Given the description of an element on the screen output the (x, y) to click on. 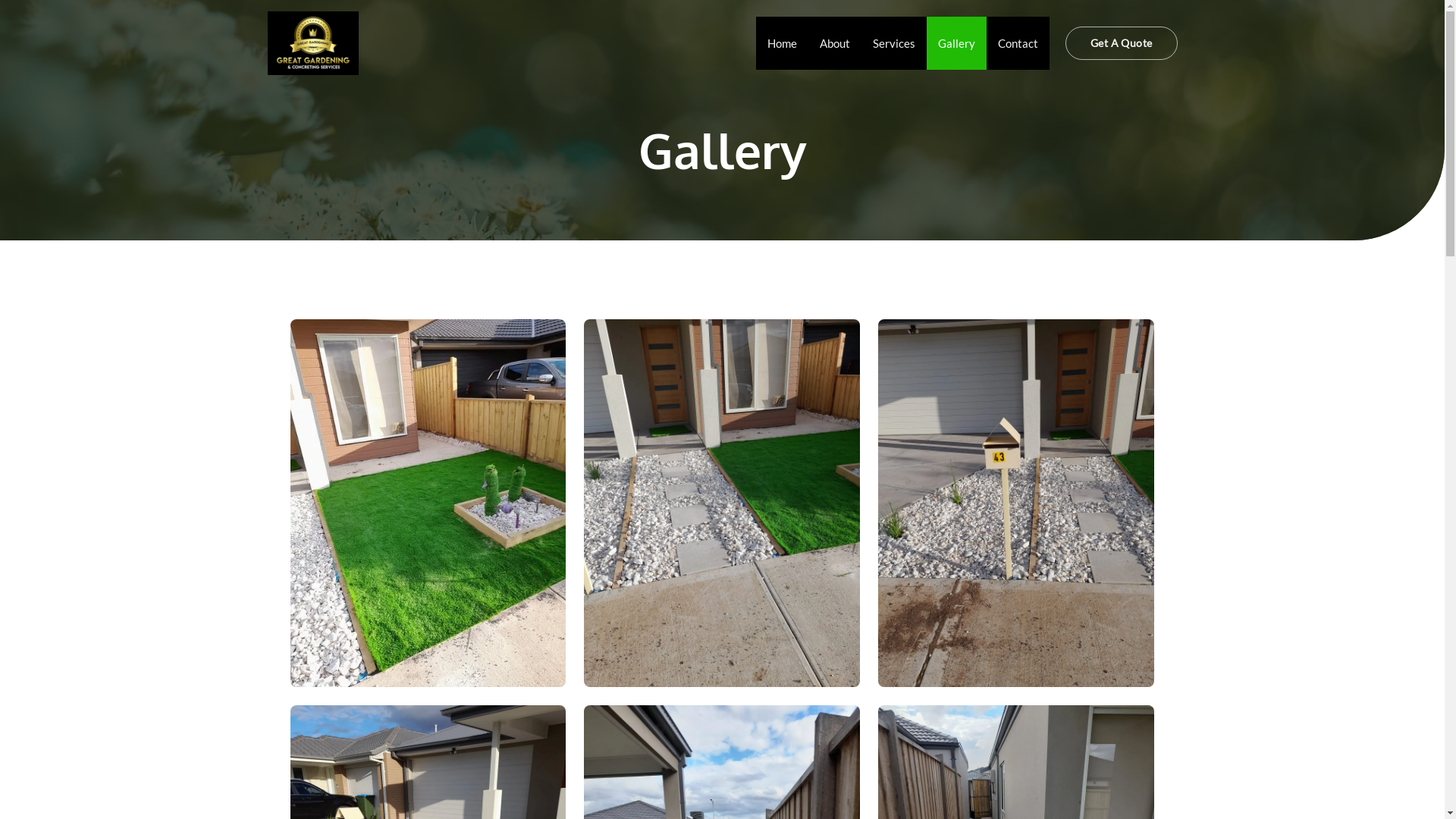
Contact Element type: text (1017, 42)
Home Element type: text (782, 42)
About Element type: text (834, 42)
Gallery Element type: text (956, 42)
Get A Quote Element type: text (1120, 42)
Services Element type: text (893, 42)
